Given the description of an element on the screen output the (x, y) to click on. 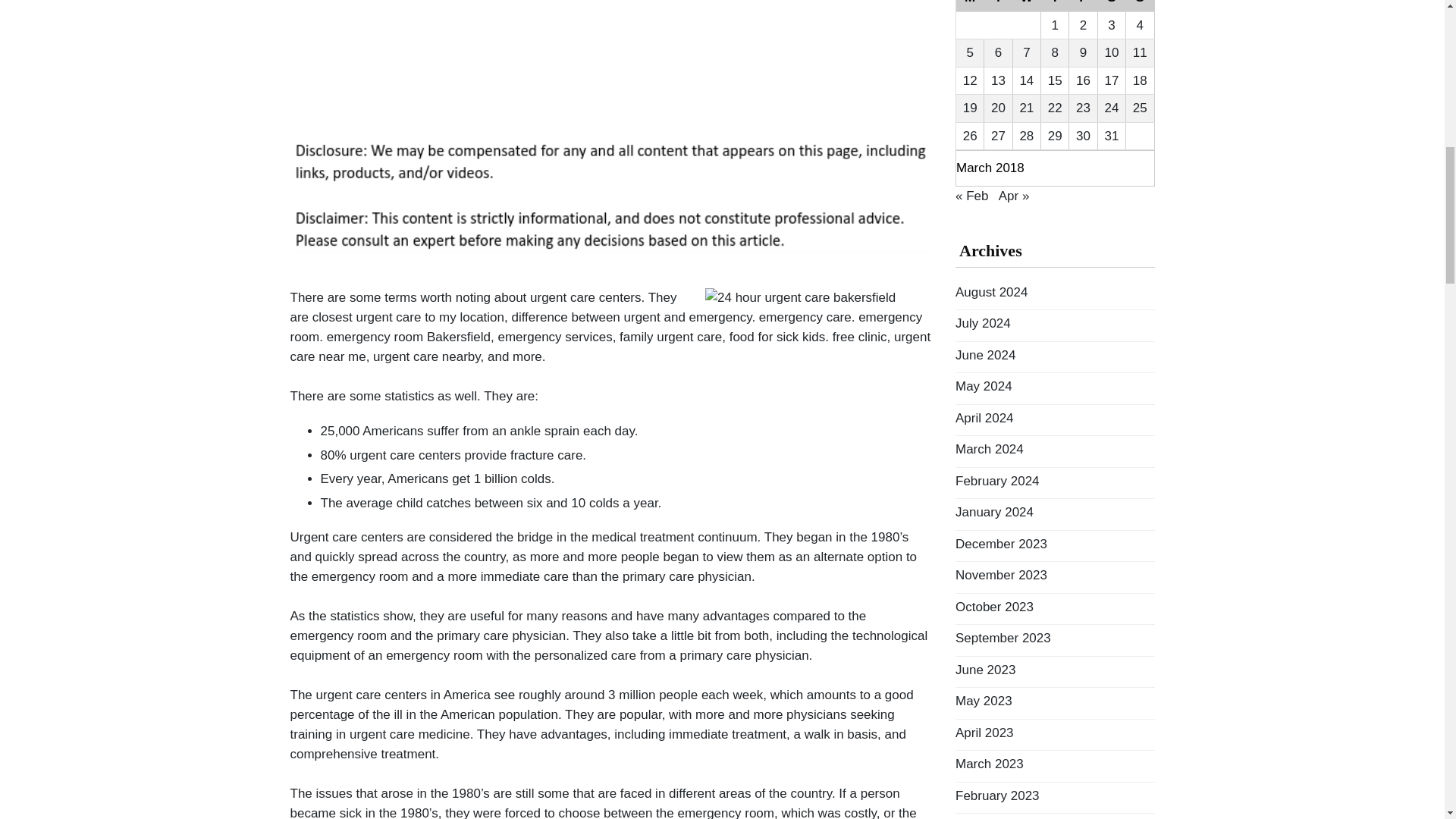
April 2024 (984, 418)
Accelerated urgent care bakersfield ca (408, 336)
Tuesday (997, 6)
June 2024 (984, 355)
emergency room Bakersfield (408, 336)
July 2024 (982, 323)
Saturday (1111, 6)
May 2024 (983, 386)
28 (1026, 135)
27 (998, 135)
